Given the description of an element on the screen output the (x, y) to click on. 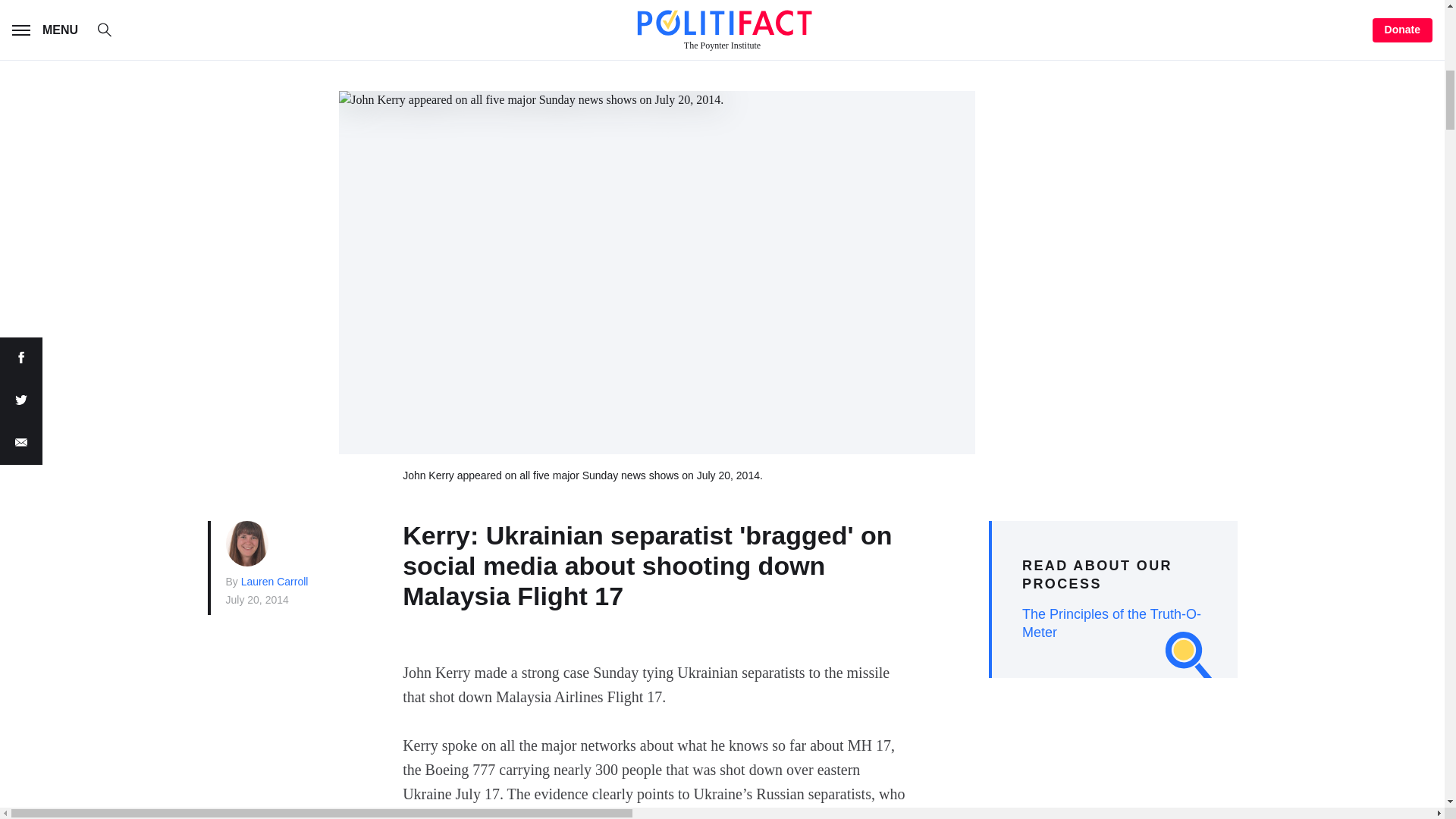
National (449, 20)
John Kerry (778, 20)
Foreign Policy (560, 20)
Military (669, 20)
